Given the description of an element on the screen output the (x, y) to click on. 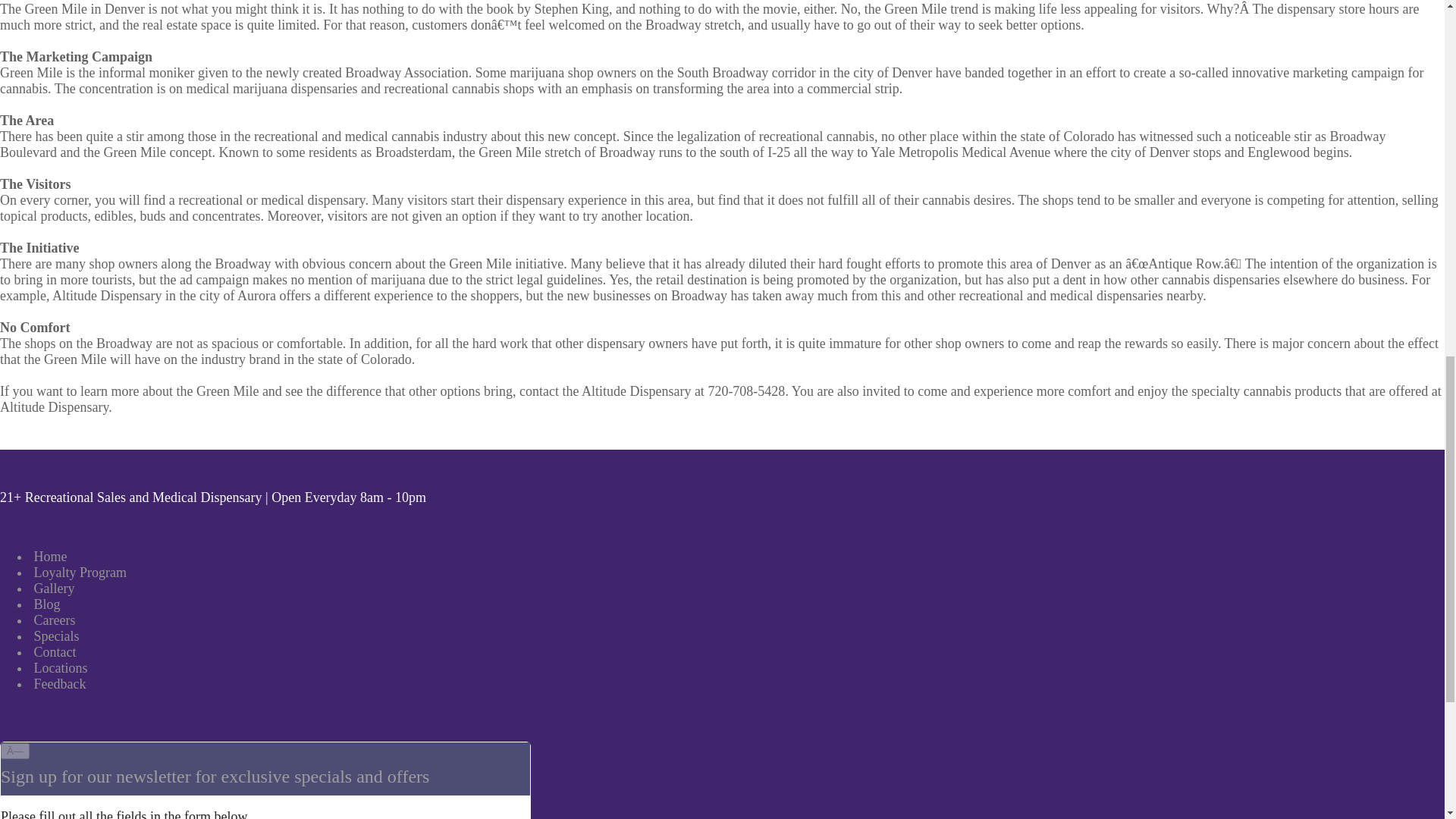
720-708-5428 (745, 391)
 Blog (45, 604)
Green Mile concept (157, 151)
 Locations (58, 667)
 Loyalty Program (78, 572)
 Careers (52, 620)
 Contact (53, 652)
 Home (48, 556)
Altitude Dispensary (53, 406)
 Specials (55, 635)
 Gallery (52, 588)
 Feedback (57, 683)
